Given the description of an element on the screen output the (x, y) to click on. 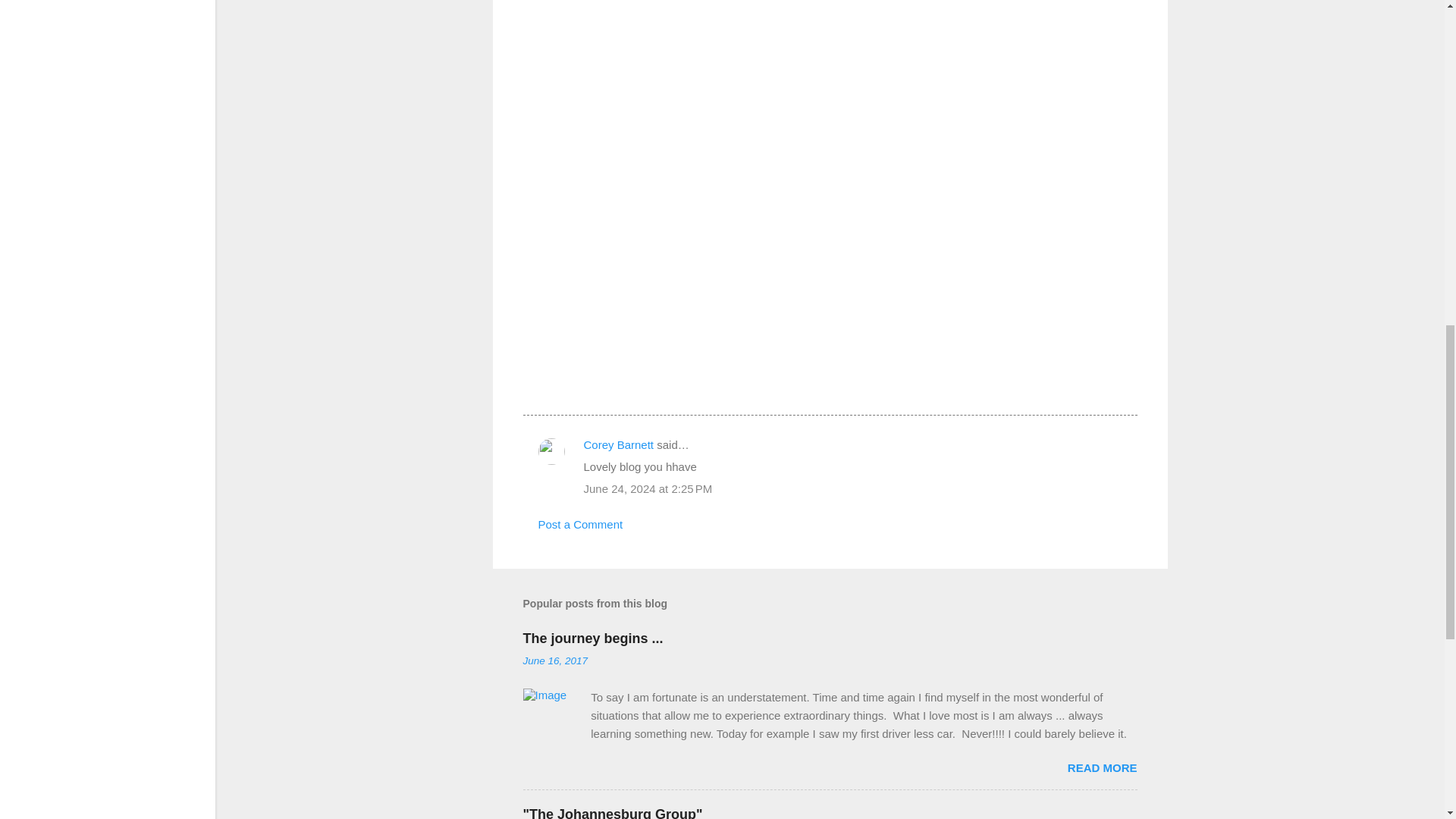
Post a Comment (580, 523)
"The Johannesburg Group" (612, 812)
Corey Barnett (618, 444)
June 16, 2017 (555, 660)
comment permalink (648, 488)
READ MORE (1102, 767)
The journey begins ... (592, 638)
